Given the description of an element on the screen output the (x, y) to click on. 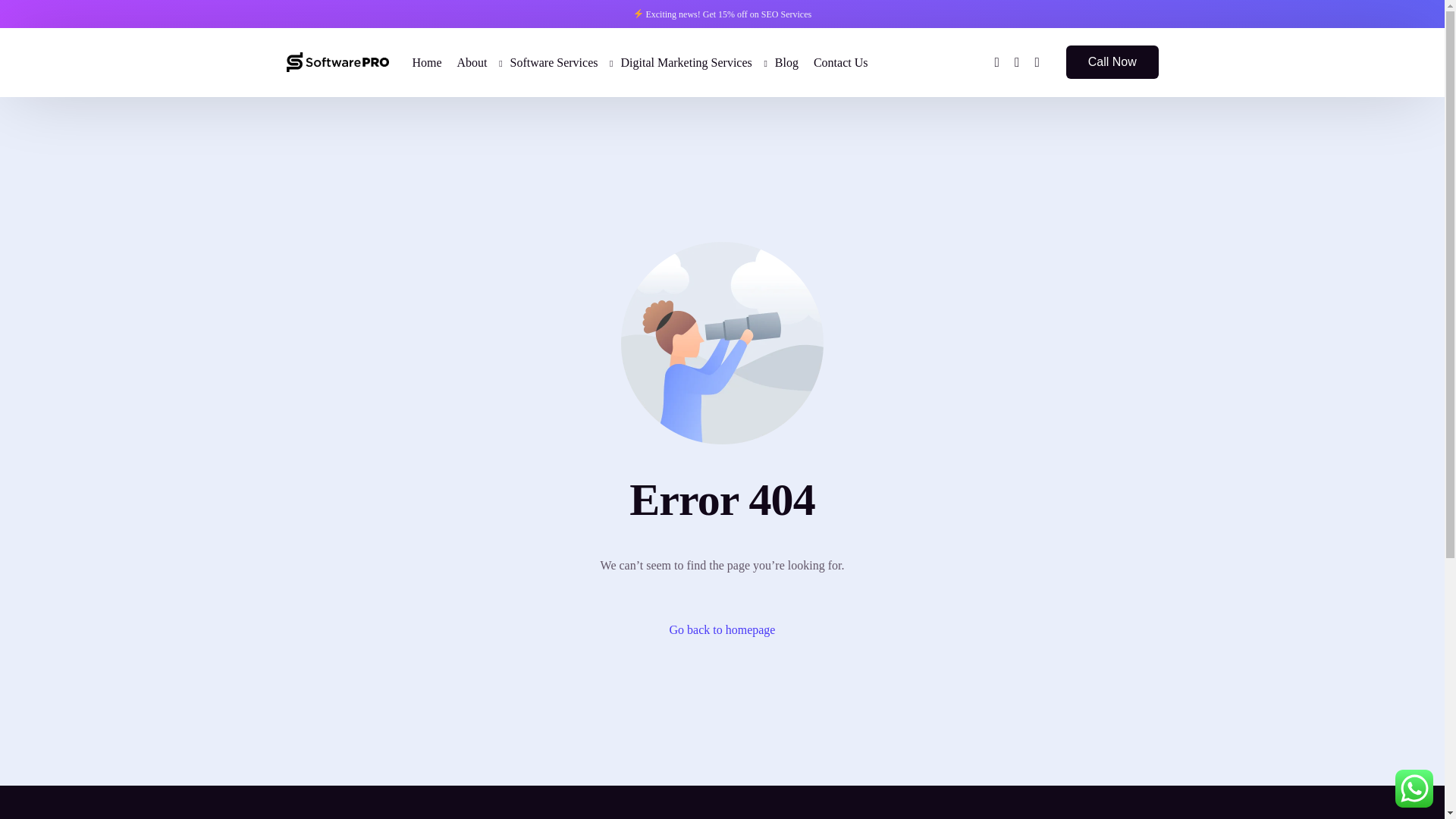
Digital Marketing Services (689, 62)
Mobile Application Development (611, 529)
Call Now (1111, 61)
Go back to homepage (722, 630)
E-Commerce (611, 582)
Software Development (611, 556)
Web Design (611, 502)
Software Services (557, 62)
Contact Us (841, 62)
